Given the description of an element on the screen output the (x, y) to click on. 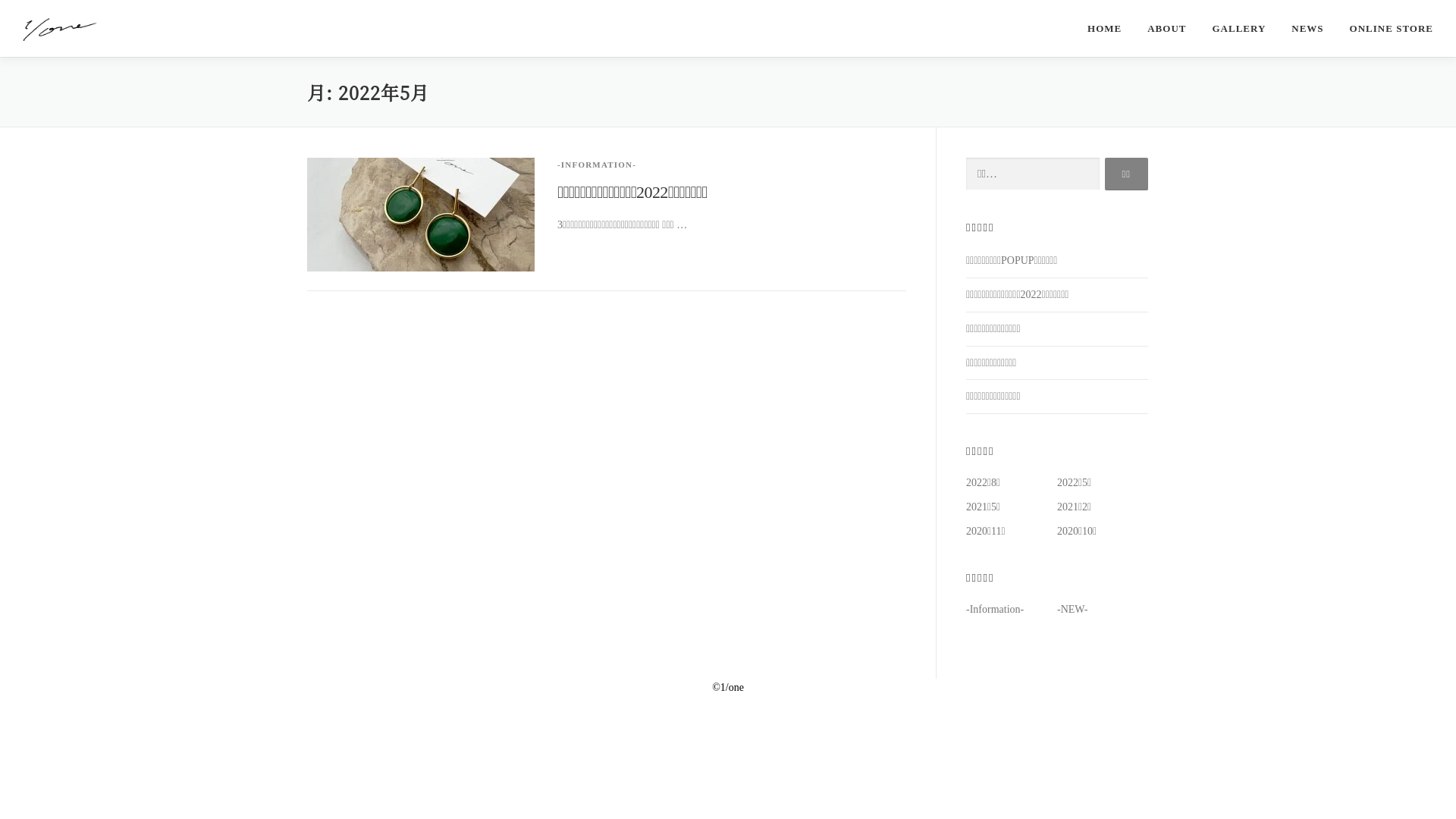
GALLERY Element type: text (1238, 28)
NEWS Element type: text (1307, 28)
-INFORMATION- Element type: text (596, 164)
HOME Element type: text (1104, 28)
ONLINE STORE Element type: text (1384, 28)
ABOUT Element type: text (1166, 28)
-NEW- Element type: text (1072, 609)
-Information- Element type: text (994, 609)
